Given the description of an element on the screen output the (x, y) to click on. 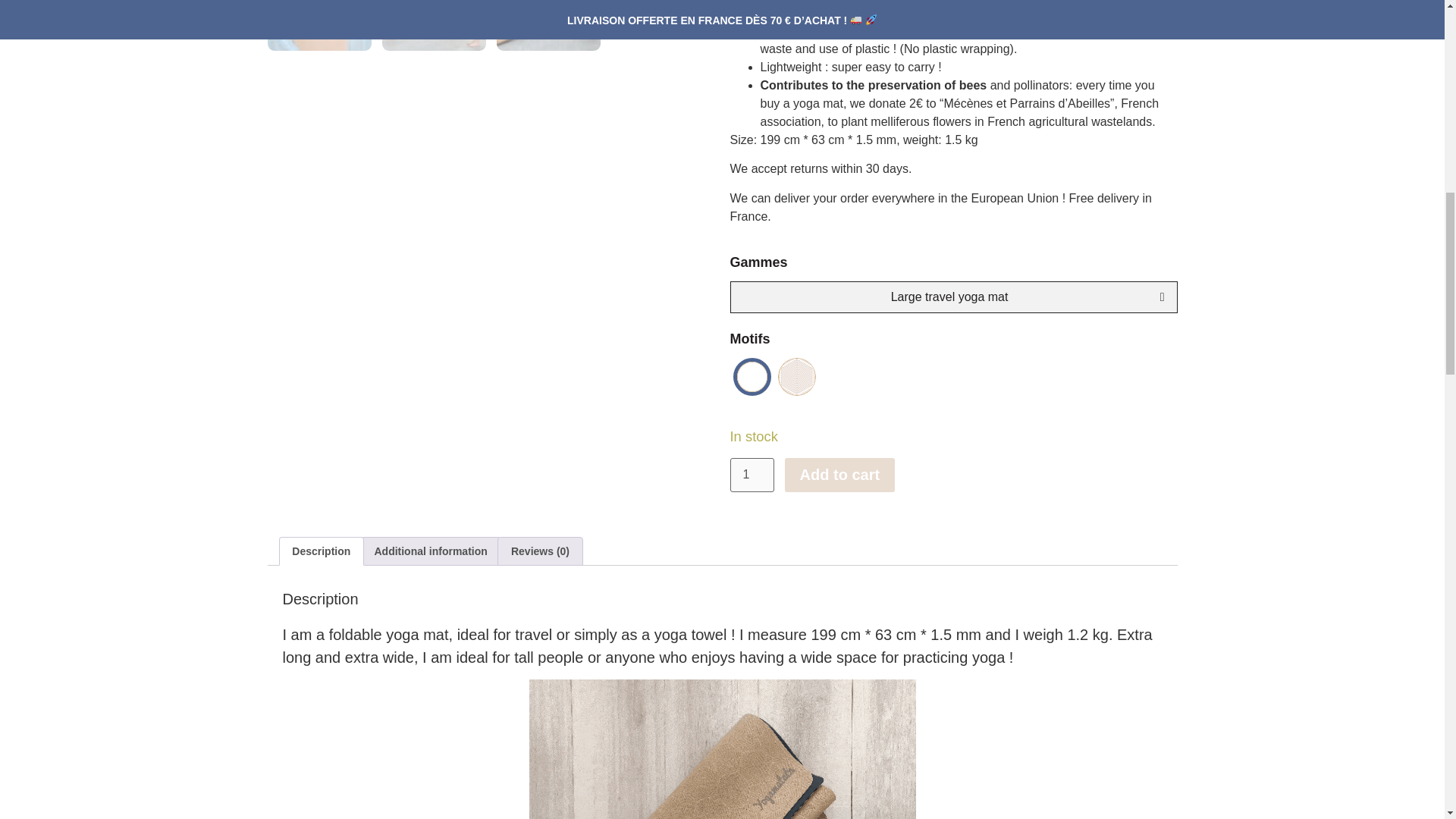
1 (751, 474)
